Given the description of an element on the screen output the (x, y) to click on. 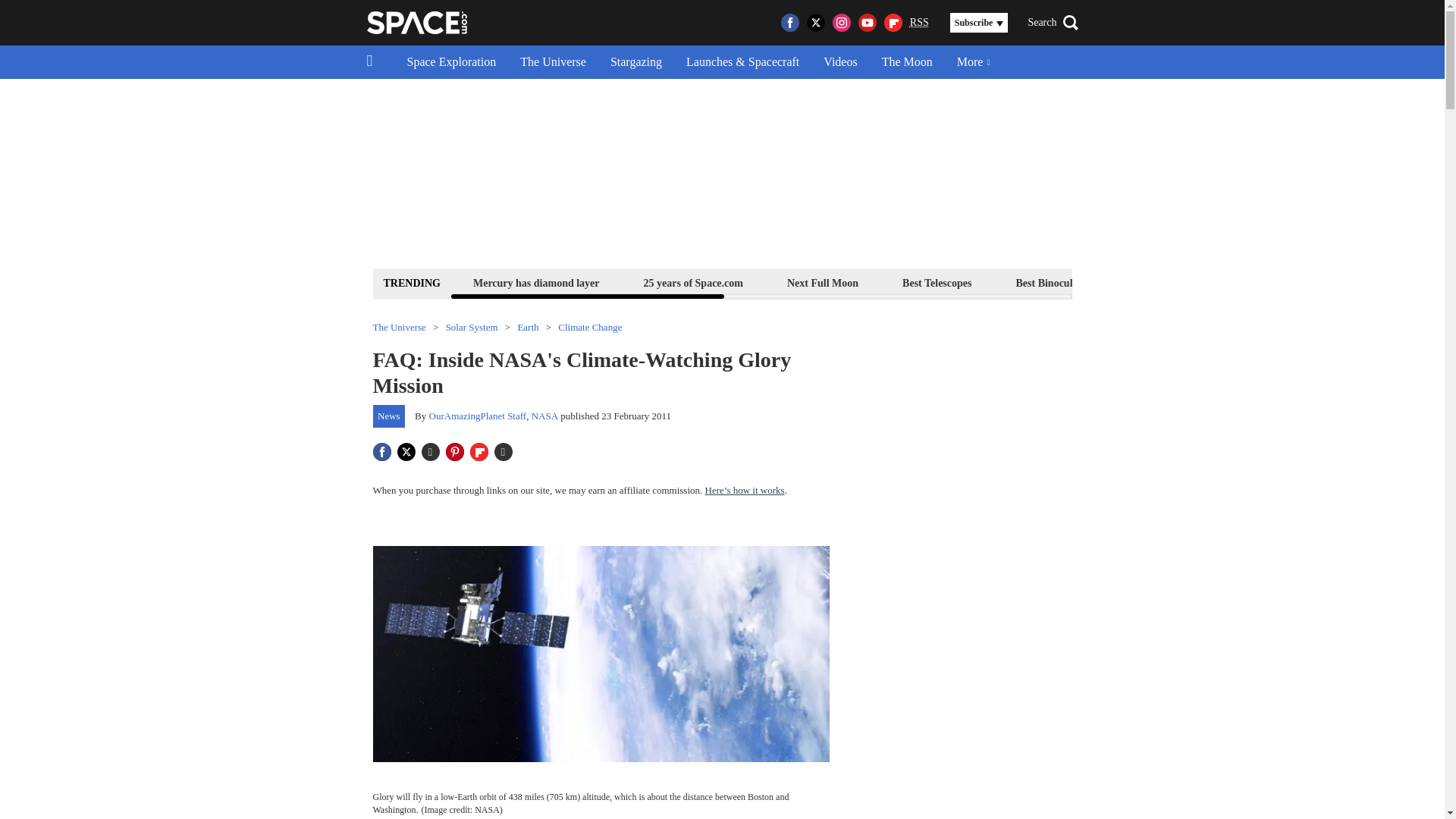
Stargazing (636, 61)
Best Telescopes (936, 282)
Space Calendar (1301, 282)
Videos (839, 61)
Really Simple Syndication (919, 21)
The Universe (553, 61)
Mercury has diamond layer (536, 282)
Best Binoculars (1051, 282)
25 years of Space.com (693, 282)
Next Full Moon (822, 282)
